Given the description of an element on the screen output the (x, y) to click on. 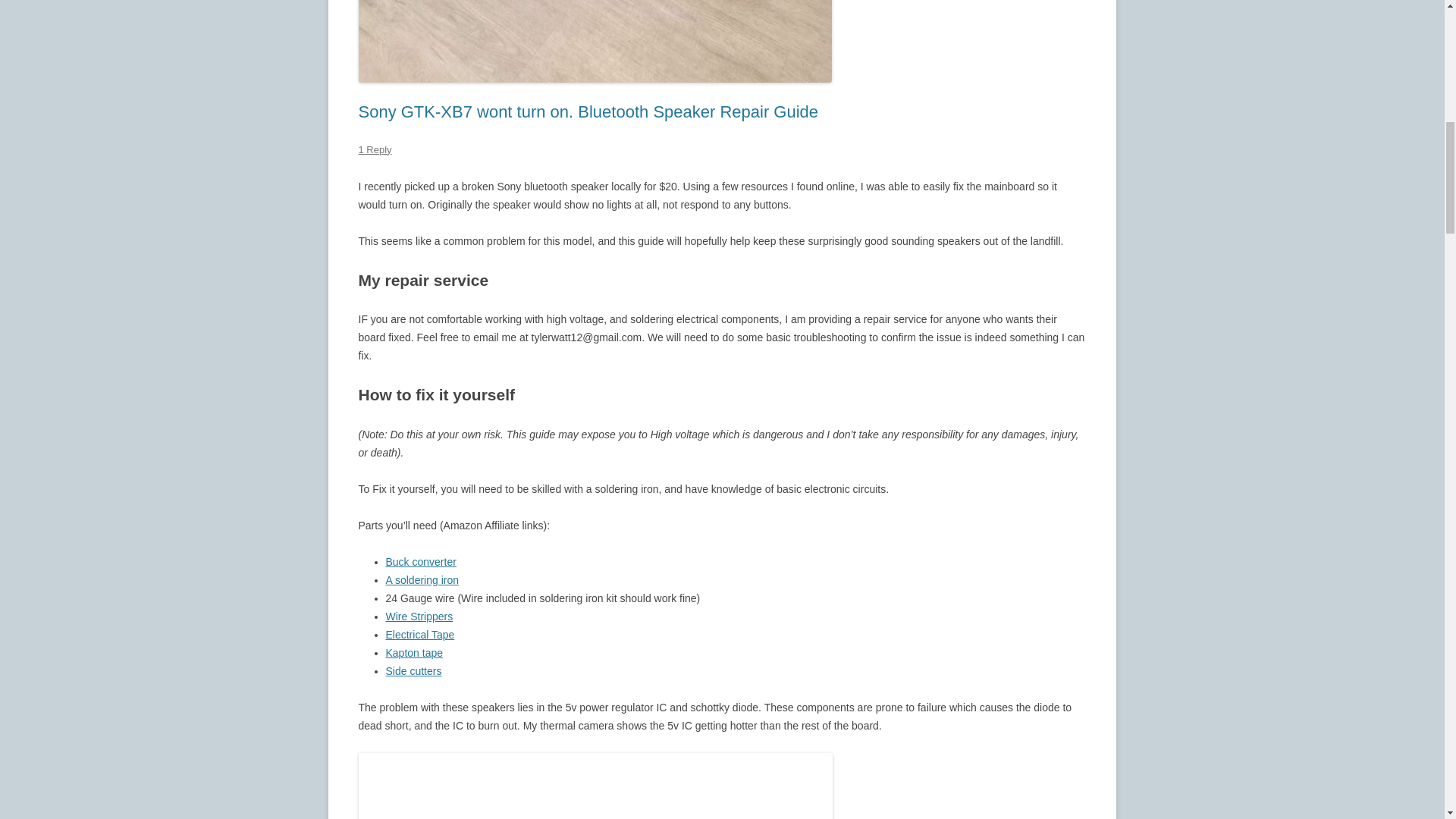
Electrical Tape (419, 634)
Buck converter (420, 562)
Wire Strippers (418, 616)
1 Reply (374, 149)
Sony GTK-XB7 wont turn on. Bluetooth Speaker Repair Guide (588, 111)
A soldering iron (421, 580)
Side cutters (413, 671)
Kapton tape (413, 653)
